Given the description of an element on the screen output the (x, y) to click on. 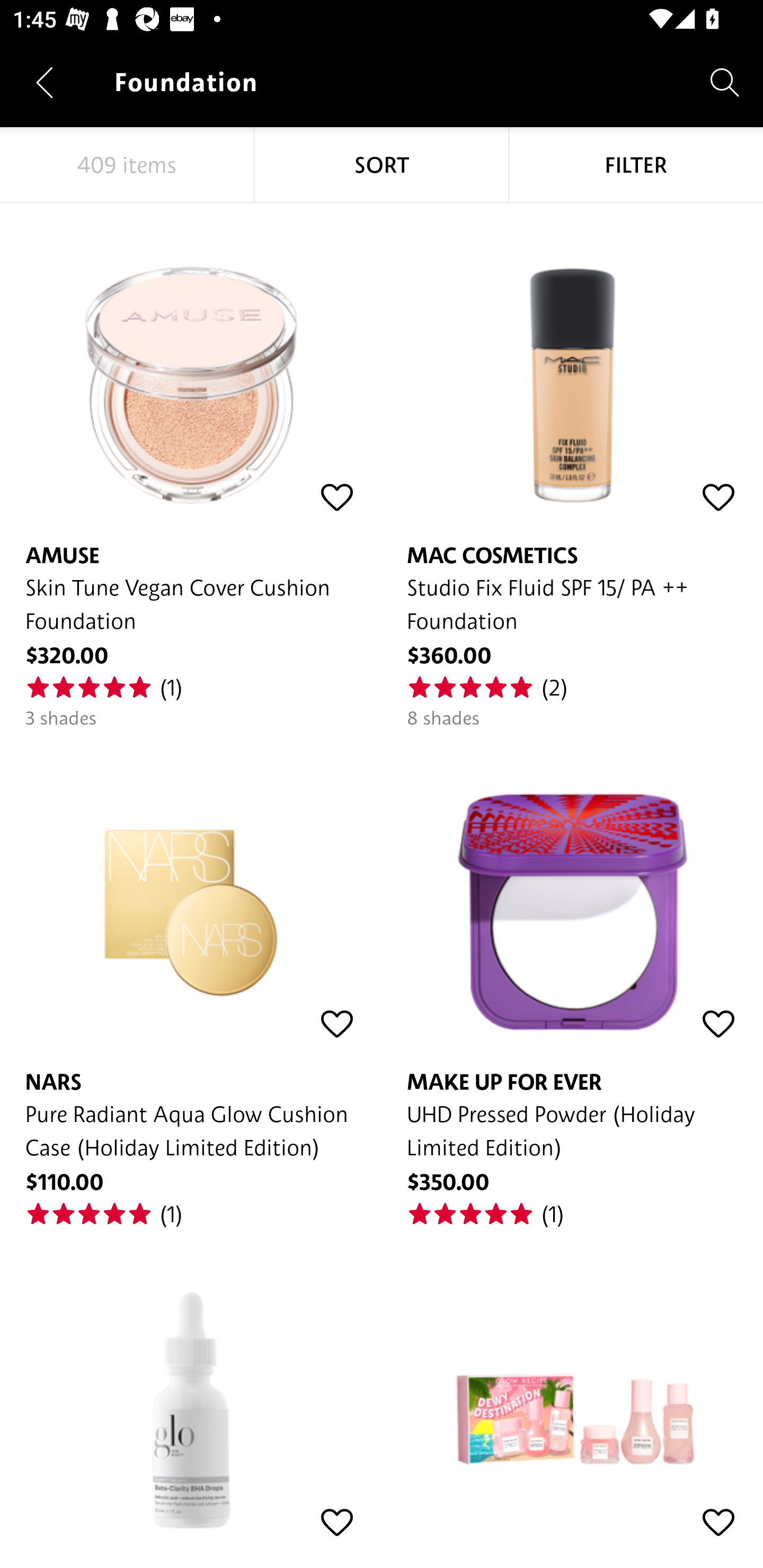
Navigate up (44, 82)
Search (724, 81)
SORT (381, 165)
FILTER (636, 165)
GLO SKIN BEAUTY (190, 1384)
GLOW RECIPE (571, 1384)
